Given the description of an element on the screen output the (x, y) to click on. 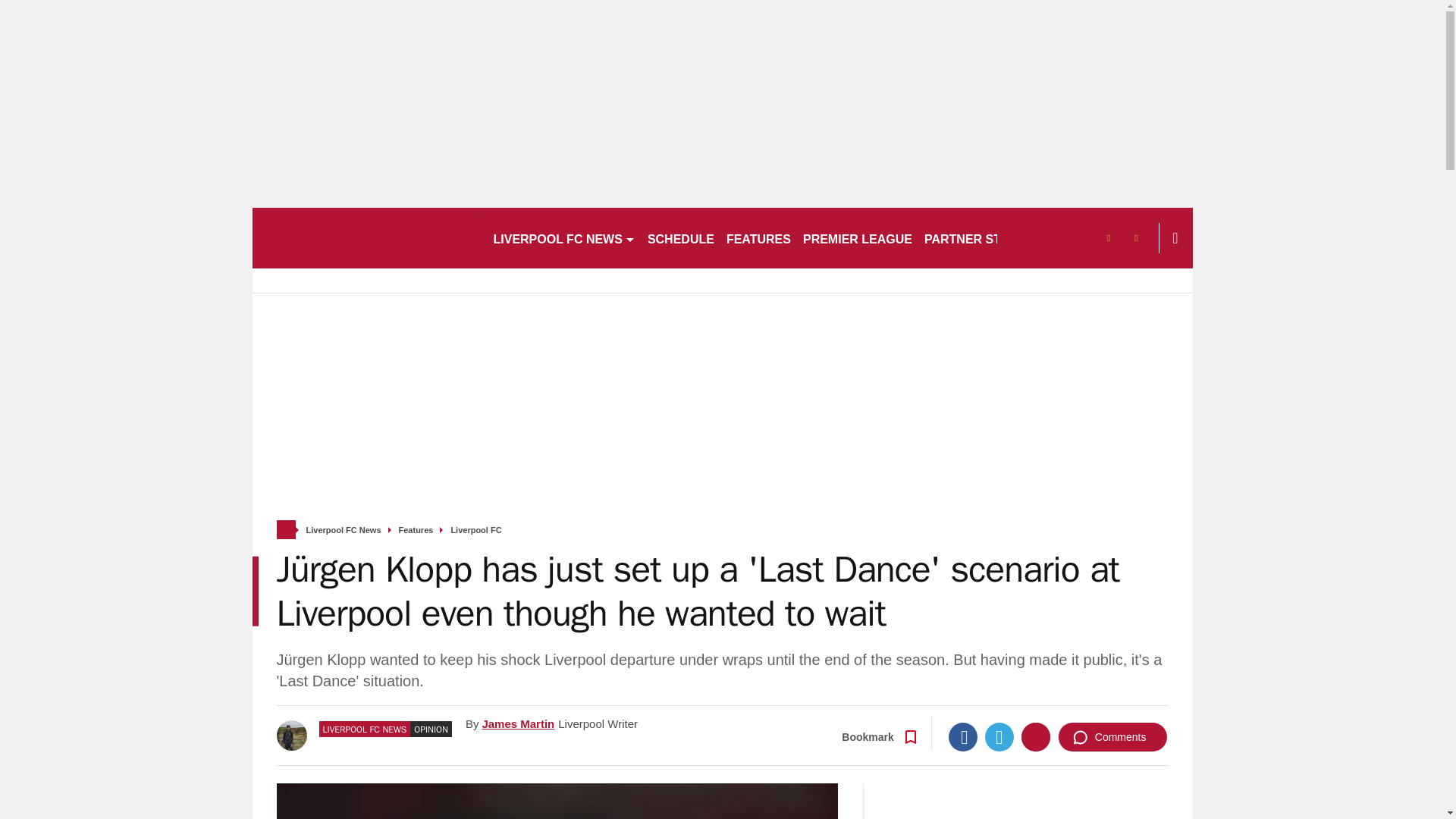
PARTNER STORIES (981, 238)
PREMIER LEAGUE (857, 238)
LIVERPOOL FC NEWS (563, 238)
Twitter (999, 736)
Liverpool FC (474, 530)
FEATURES (758, 238)
facebook (1106, 238)
Features (415, 530)
frontpage (285, 529)
SCHEDULE (681, 238)
